Given the description of an element on the screen output the (x, y) to click on. 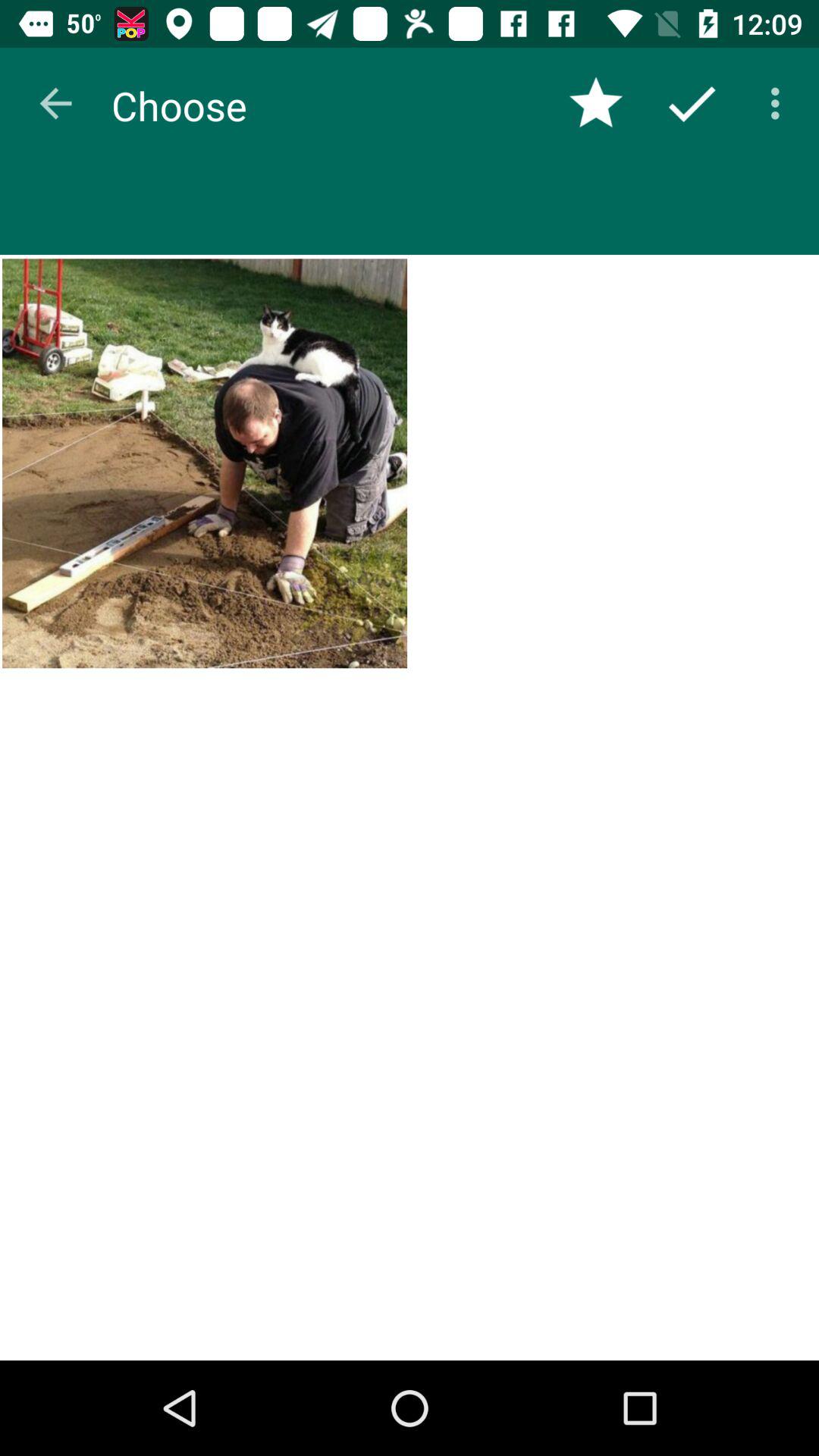
launch the item next to choose (595, 103)
